Given the description of an element on the screen output the (x, y) to click on. 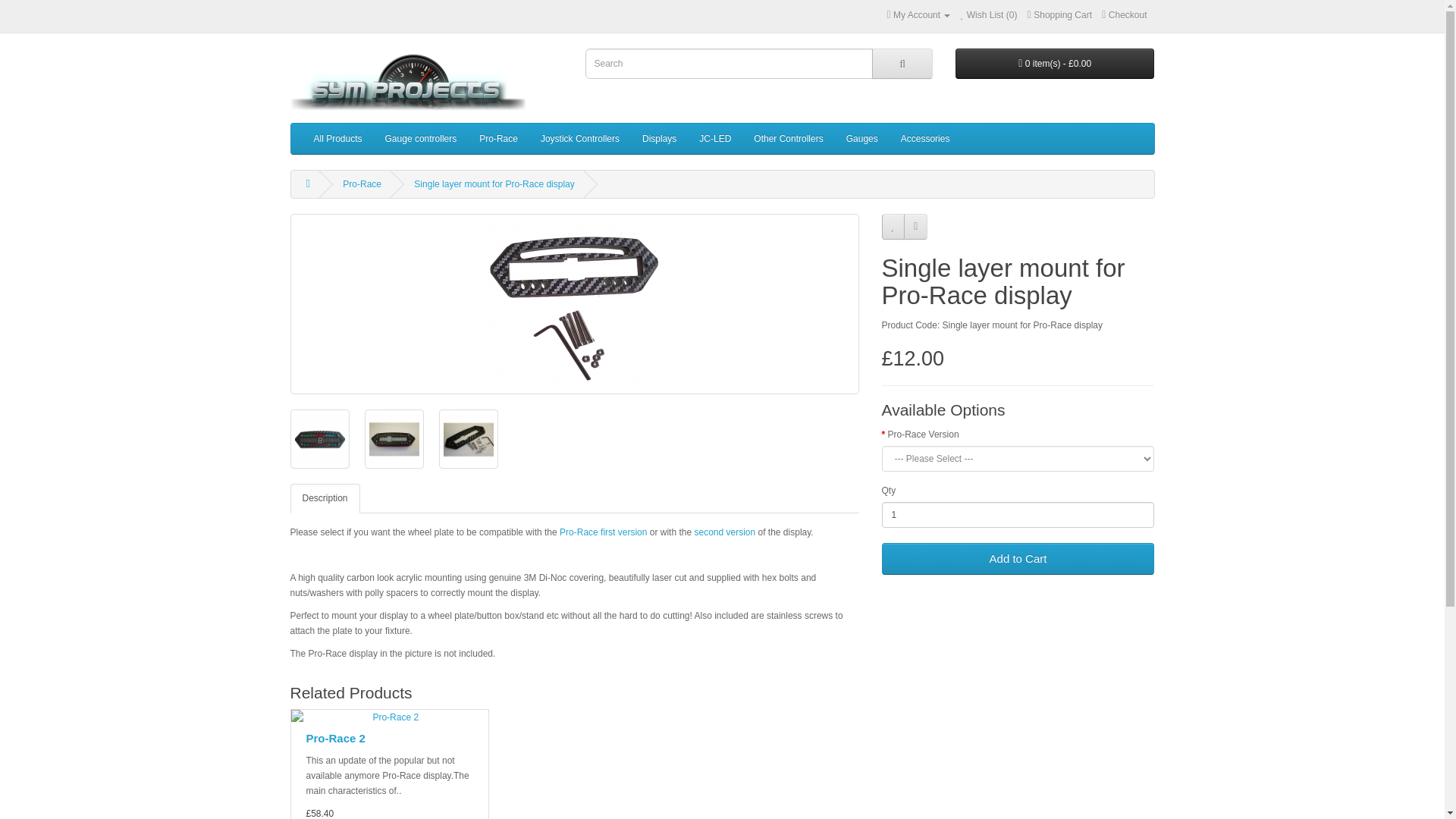
All Products (336, 138)
JC-LED (714, 138)
Description (324, 498)
Shopping Cart (1059, 14)
Checkout (1124, 14)
Other Controllers (788, 138)
Accessories (924, 138)
Single layer mount for Pro-Race display (493, 184)
Single layer mount for Pro-Race display (574, 303)
Pro-Race (498, 138)
